Given the description of an element on the screen output the (x, y) to click on. 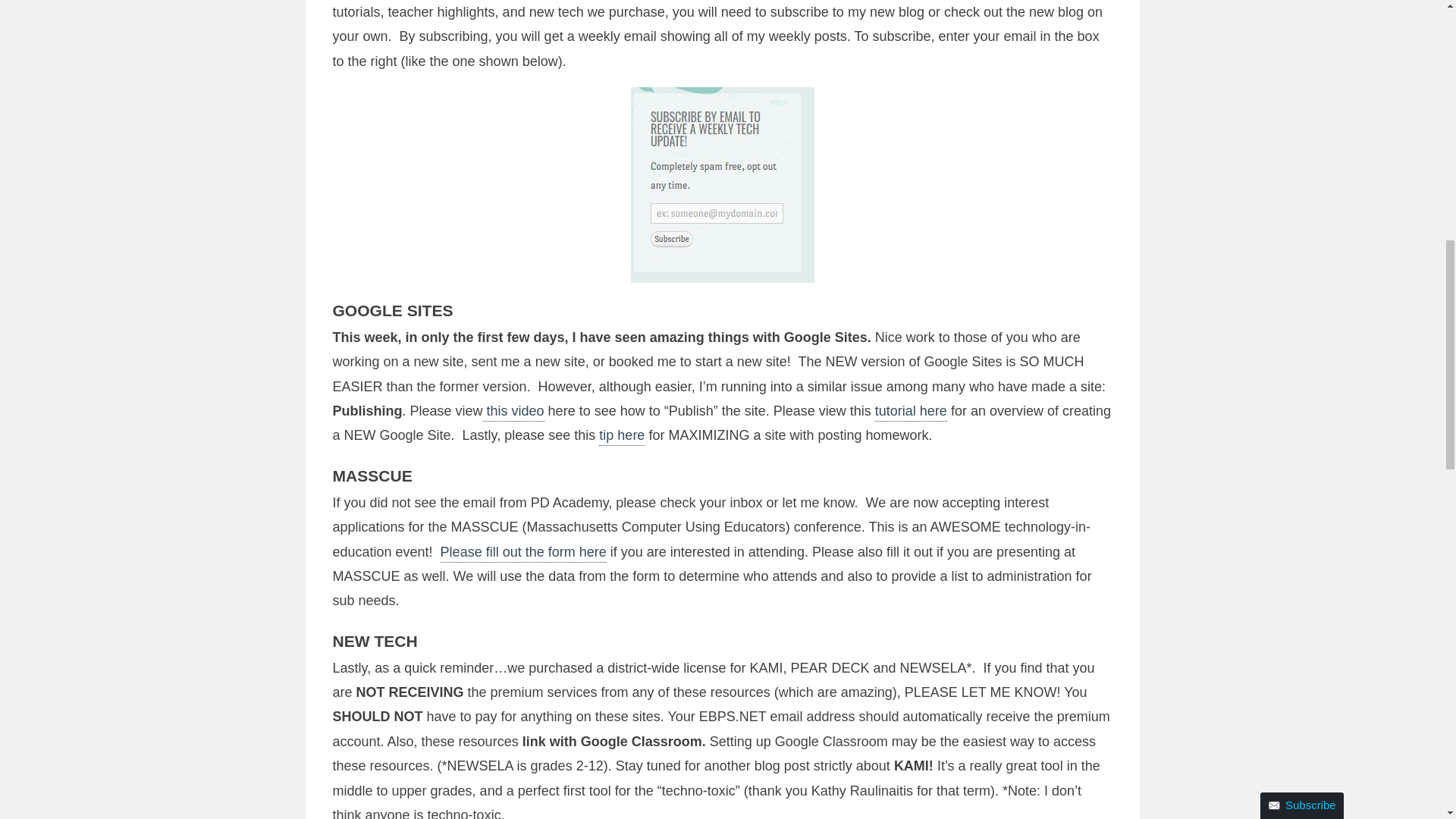
Terms of Service (1107, 125)
Privacy Policy (1163, 115)
tip here (621, 436)
Please fill out the form here (524, 553)
Subscribe me! (1050, 152)
Subscribe (1301, 2)
this video (513, 412)
Subscribe me! (1050, 152)
tutorial here (911, 412)
